Given the description of an element on the screen output the (x, y) to click on. 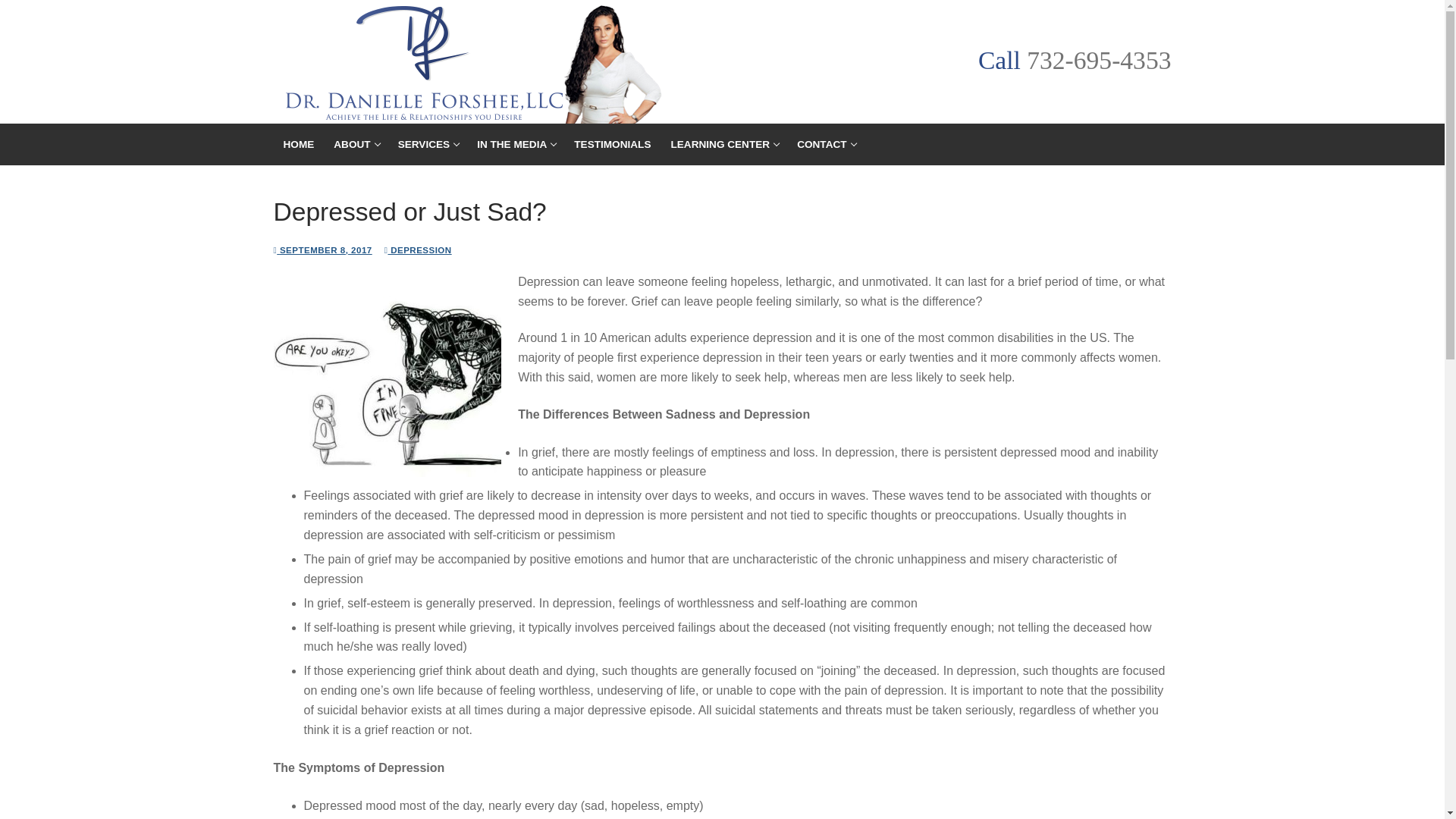
732-695-4353 (724, 144)
DEPRESSION (1098, 59)
TESTIMONIALS (417, 249)
SEPTEMBER 8, 2017 (515, 144)
HOME (355, 144)
